Given the description of an element on the screen output the (x, y) to click on. 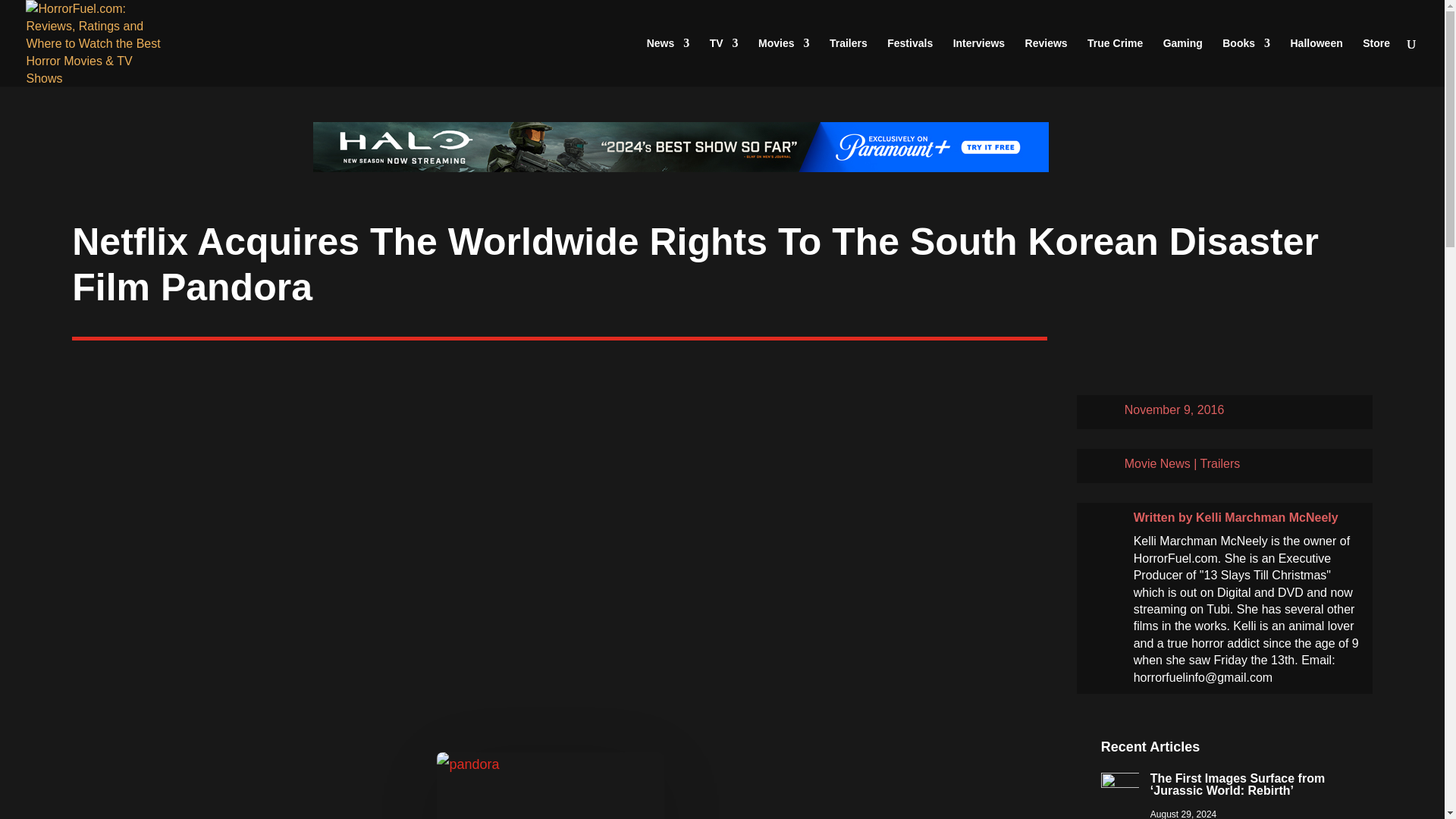
News (668, 61)
Festivals (909, 61)
Movies (783, 61)
